Given the description of an element on the screen output the (x, y) to click on. 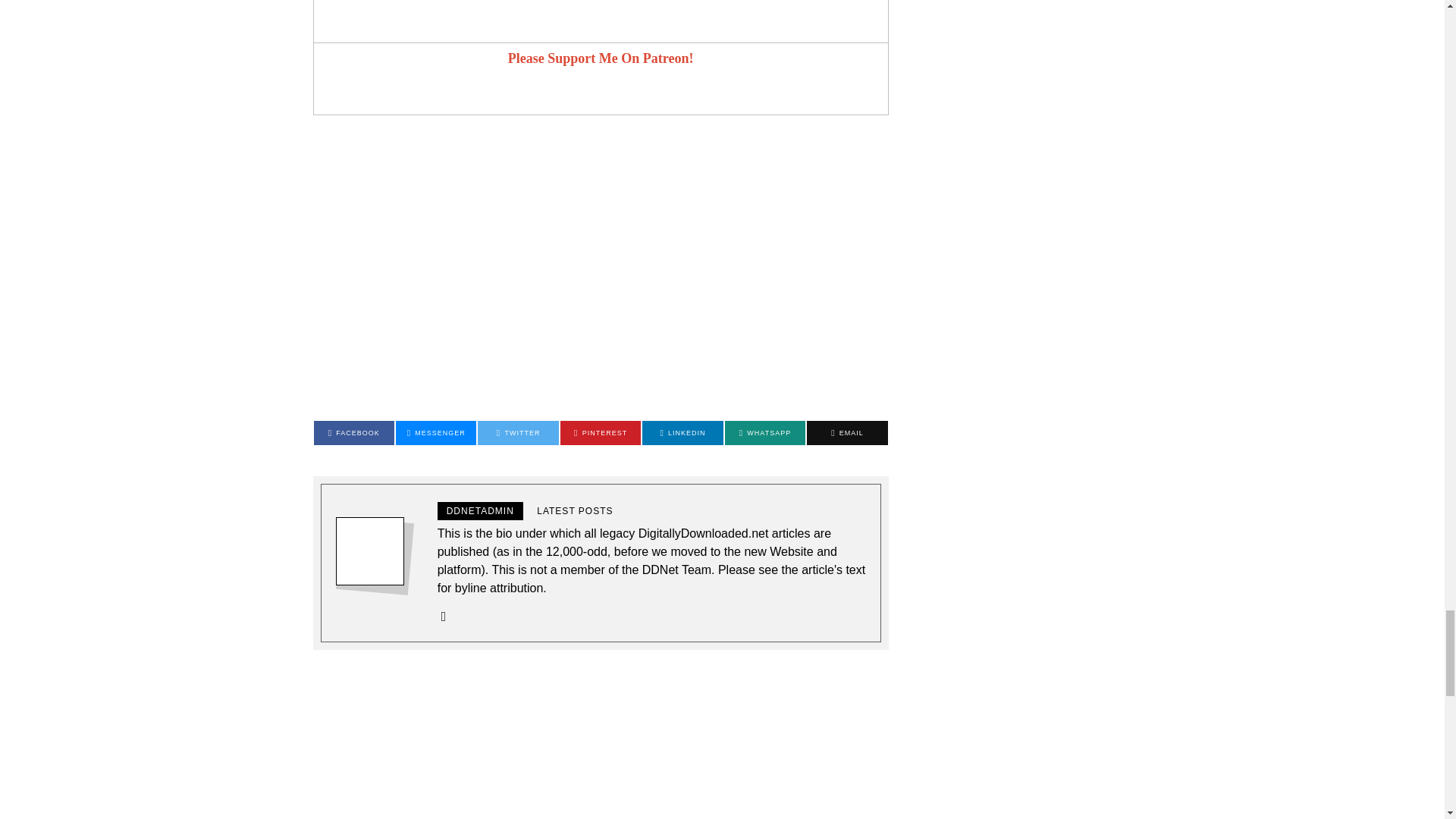
Facebook (354, 432)
Linkedin (682, 432)
Pinterest (600, 432)
Messenger (436, 432)
Whatsapp (765, 432)
Email (846, 432)
Twitter (517, 432)
